Given the description of an element on the screen output the (x, y) to click on. 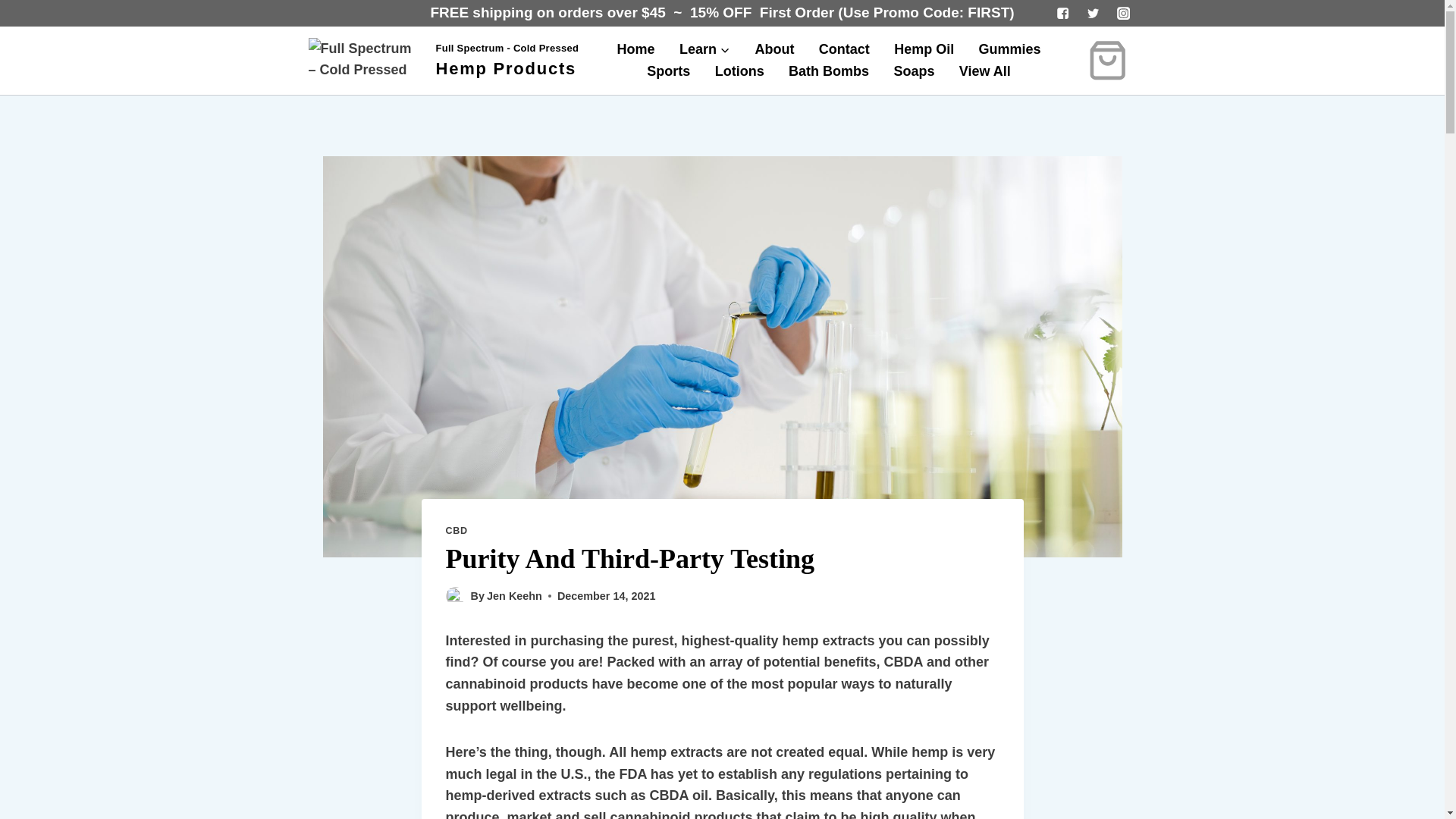
Hemp Oil (924, 48)
CBD (456, 530)
Sports (667, 71)
Jen Keehn (513, 595)
Gummies (1009, 48)
About (774, 48)
Learn (704, 48)
Bath Bombs (828, 71)
Contact (844, 48)
